Given the description of an element on the screen output the (x, y) to click on. 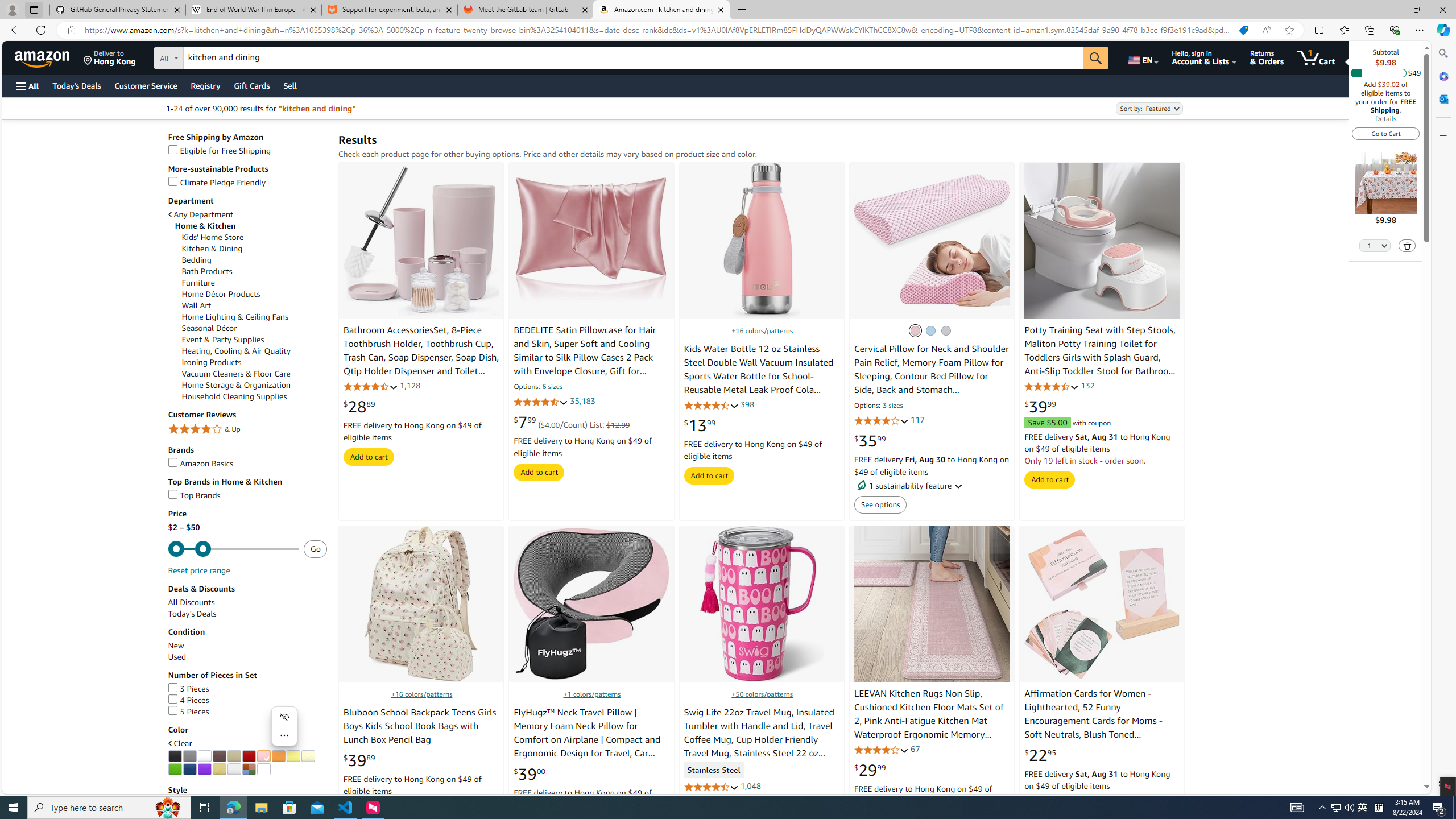
5 Pieces (247, 711)
Skip to main search results (50, 788)
Search Amazon (633, 57)
Heating, Cooling & Air Quality (236, 350)
4.3 out of 5 stars (370, 386)
Customer Service (145, 85)
1,048 (750, 785)
Today's Deals (247, 614)
Choose a language for shopping. (1142, 57)
+16 colors/patterns (421, 693)
Household Cleaning Supplies (254, 396)
Registry (205, 85)
1,128 (410, 384)
